Given the description of an element on the screen output the (x, y) to click on. 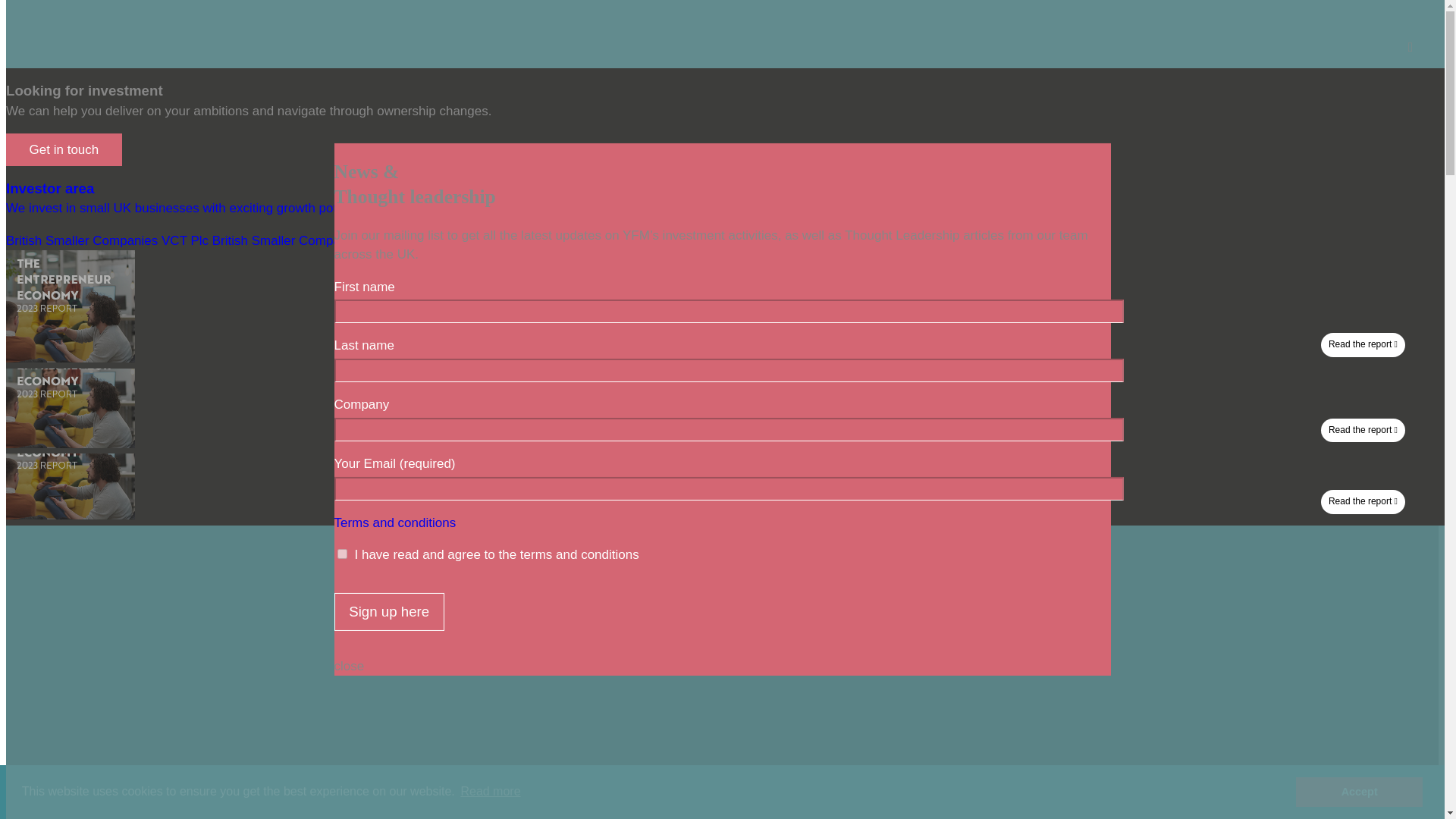
Read more (490, 791)
Read the report (70, 443)
Accept (1358, 791)
Read the report (70, 514)
What we do (489, 84)
1 (341, 553)
Contact us (828, 84)
Our investments (584, 84)
Get in touch (63, 149)
Sign up here (388, 611)
Who we are (406, 84)
Investor area (743, 84)
British Smaller Companies VCT Plc (106, 240)
Looking for investment? (949, 84)
Insights (668, 84)
